Given the description of an element on the screen output the (x, y) to click on. 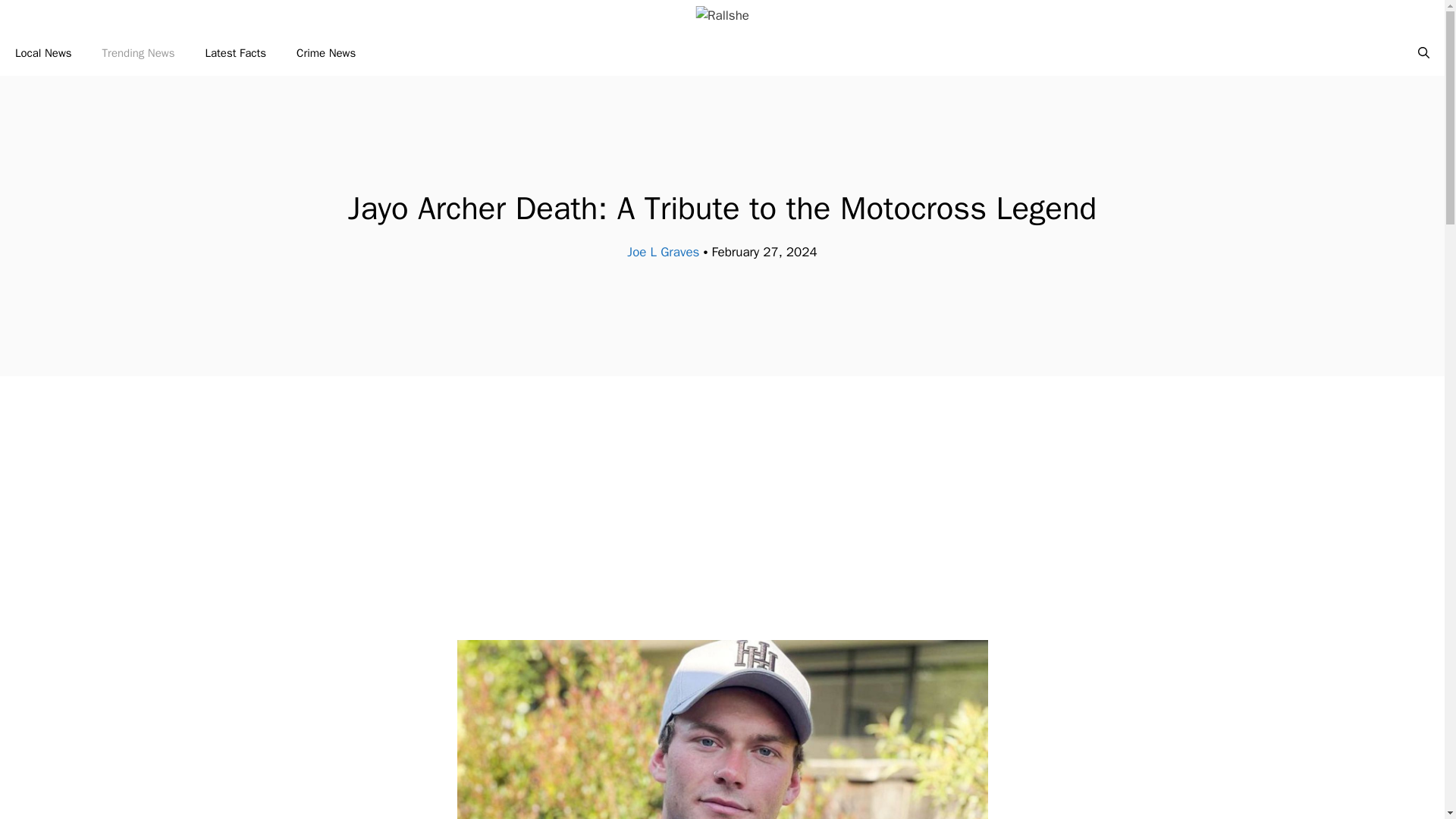
Crime News (326, 53)
Joe L Graves (662, 252)
Trending News (138, 53)
Local News (43, 53)
Jayo Archer Death: A Tribute to the Motocross Legend 1 (722, 729)
Latest Facts (235, 53)
